Given the description of an element on the screen output the (x, y) to click on. 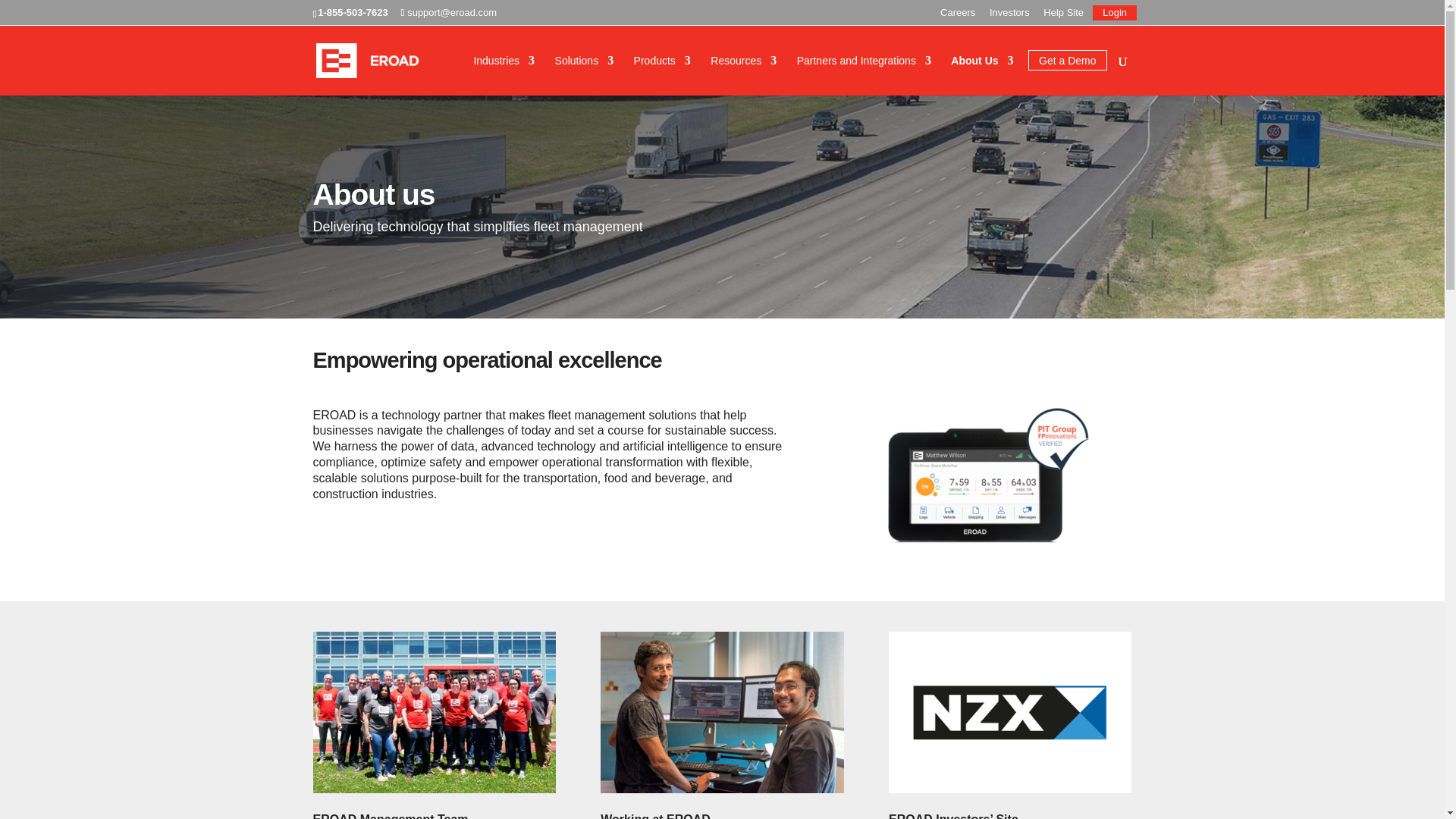
Products (661, 75)
Help Site (1063, 16)
Get a Demo (1066, 75)
Careers (957, 16)
Solutions (584, 75)
Login (1114, 16)
Partners and Integrations (863, 75)
Industries (503, 75)
Resources (743, 75)
About Us (981, 75)
